Given the description of an element on the screen output the (x, y) to click on. 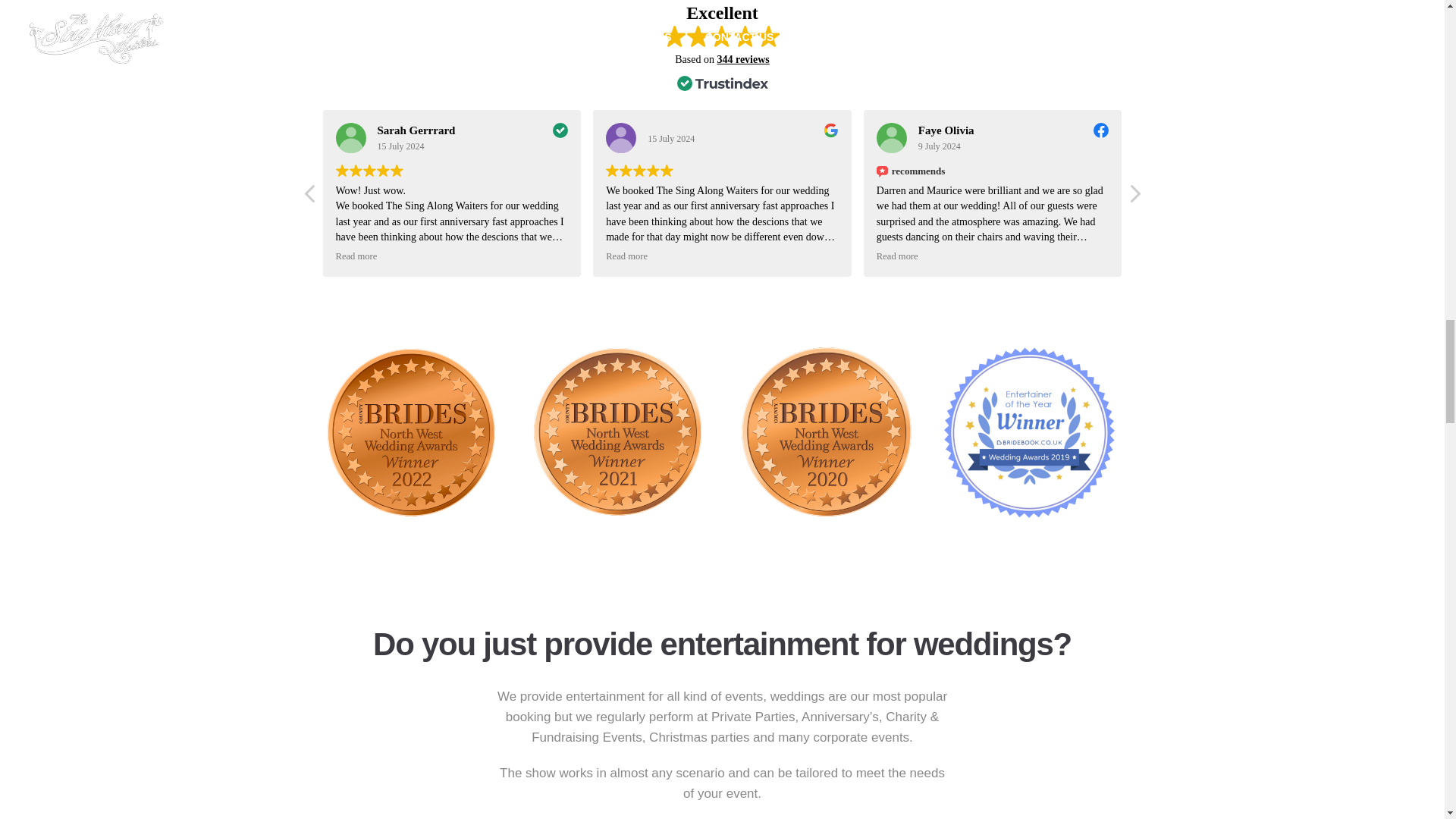
344 reviews (742, 59)
